Given the description of an element on the screen output the (x, y) to click on. 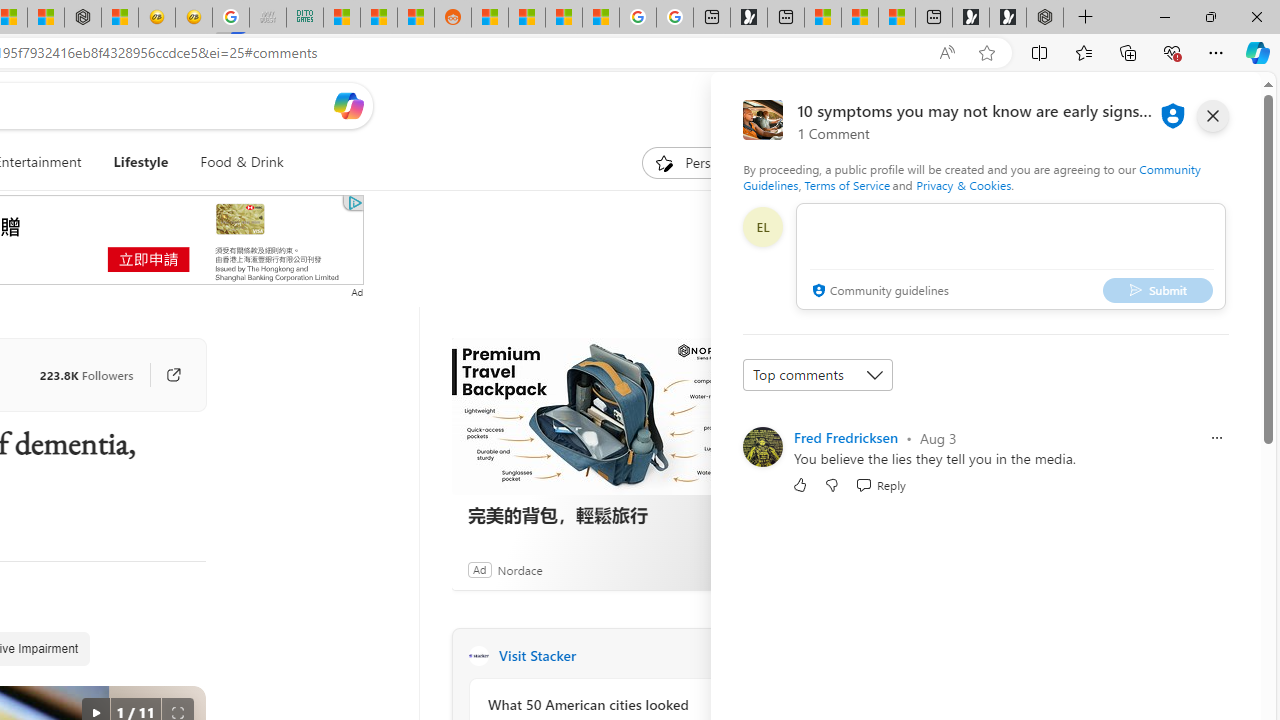
Dislike (831, 484)
Nordace - Nordace Siena Is Not An Ordinary Backpack (1044, 17)
Open Copilot (347, 105)
Terms of Service (846, 184)
Microsoft Start Gaming (748, 17)
Class: qc-adchoices-icon (355, 202)
Community Guidelines (971, 176)
Privacy & Cookies (964, 184)
Food & Drink (234, 162)
Ad Choice (729, 569)
